Given the description of an element on the screen output the (x, y) to click on. 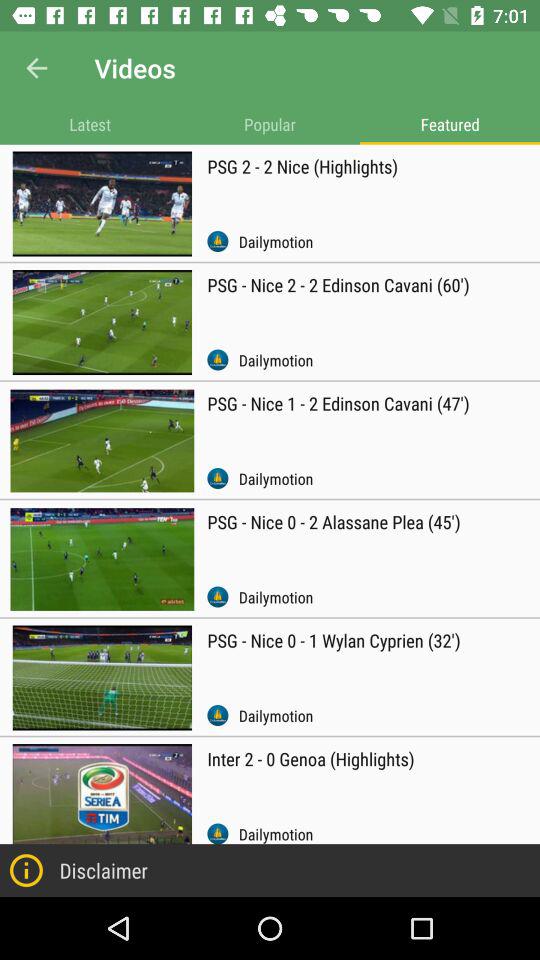
flip until the latest item (90, 124)
